Given the description of an element on the screen output the (x, y) to click on. 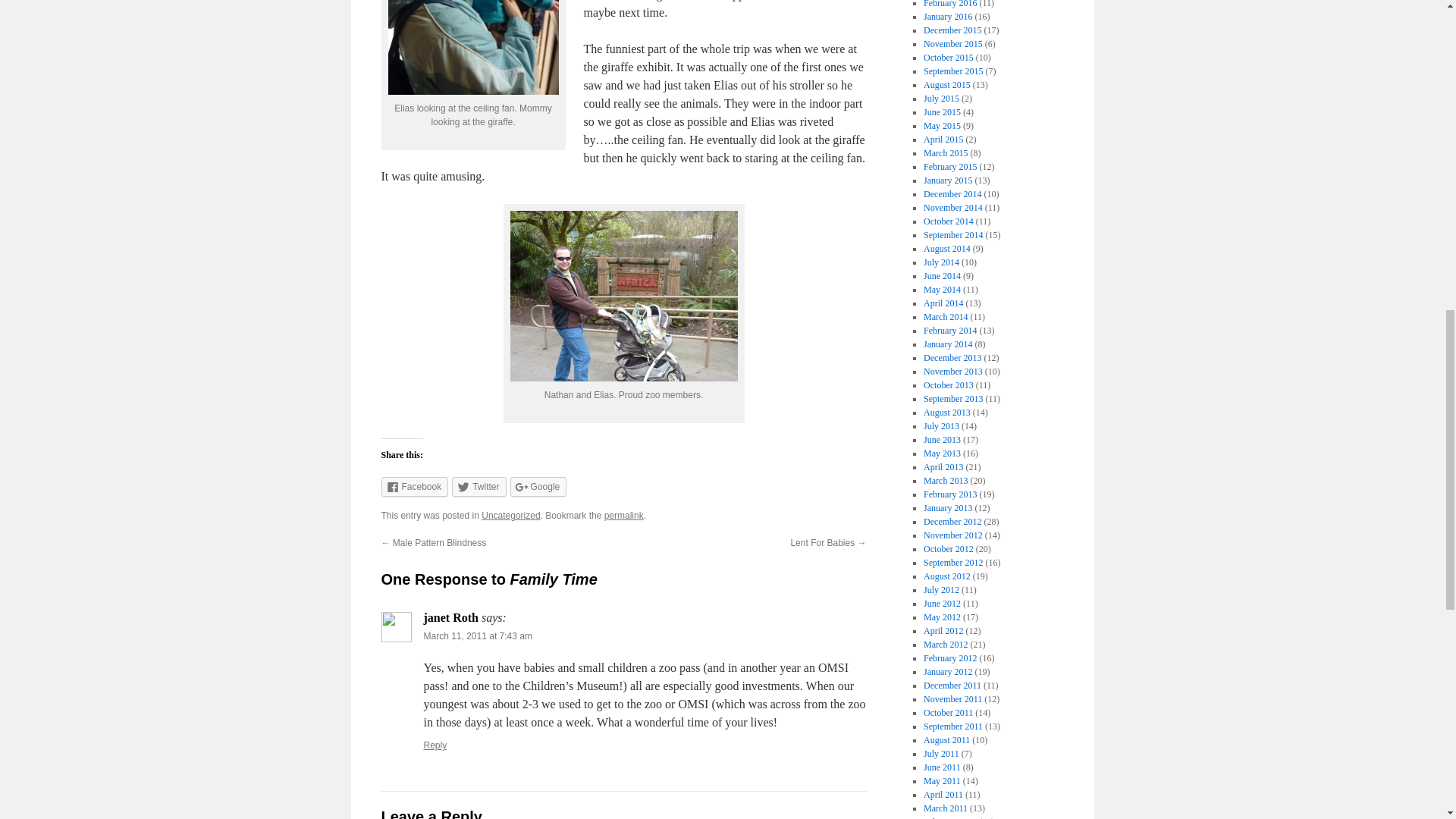
March 11, 2011 at 7:43 am (477, 635)
Reply (434, 745)
Click to share on Facebook (414, 486)
fan (473, 47)
permalink (623, 515)
Twitter (478, 486)
Uncategorized (510, 515)
Permalink to Family Time (623, 515)
Google (539, 486)
proud zoo member (622, 295)
Facebook (414, 486)
Click to share on Twitter (478, 486)
